Given the description of an element on the screen output the (x, y) to click on. 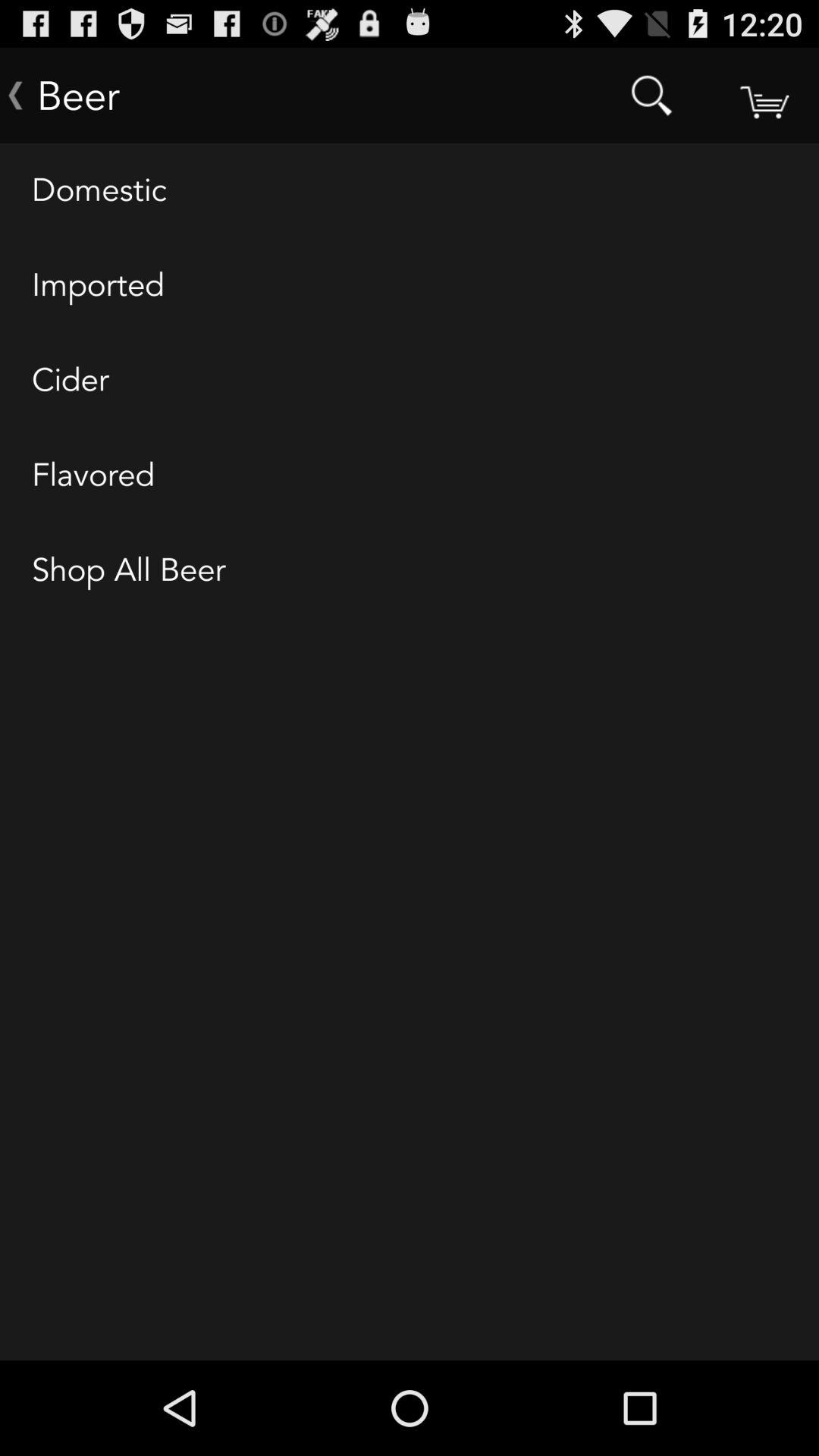
select the icon above shop all beer icon (409, 475)
